Given the description of an element on the screen output the (x, y) to click on. 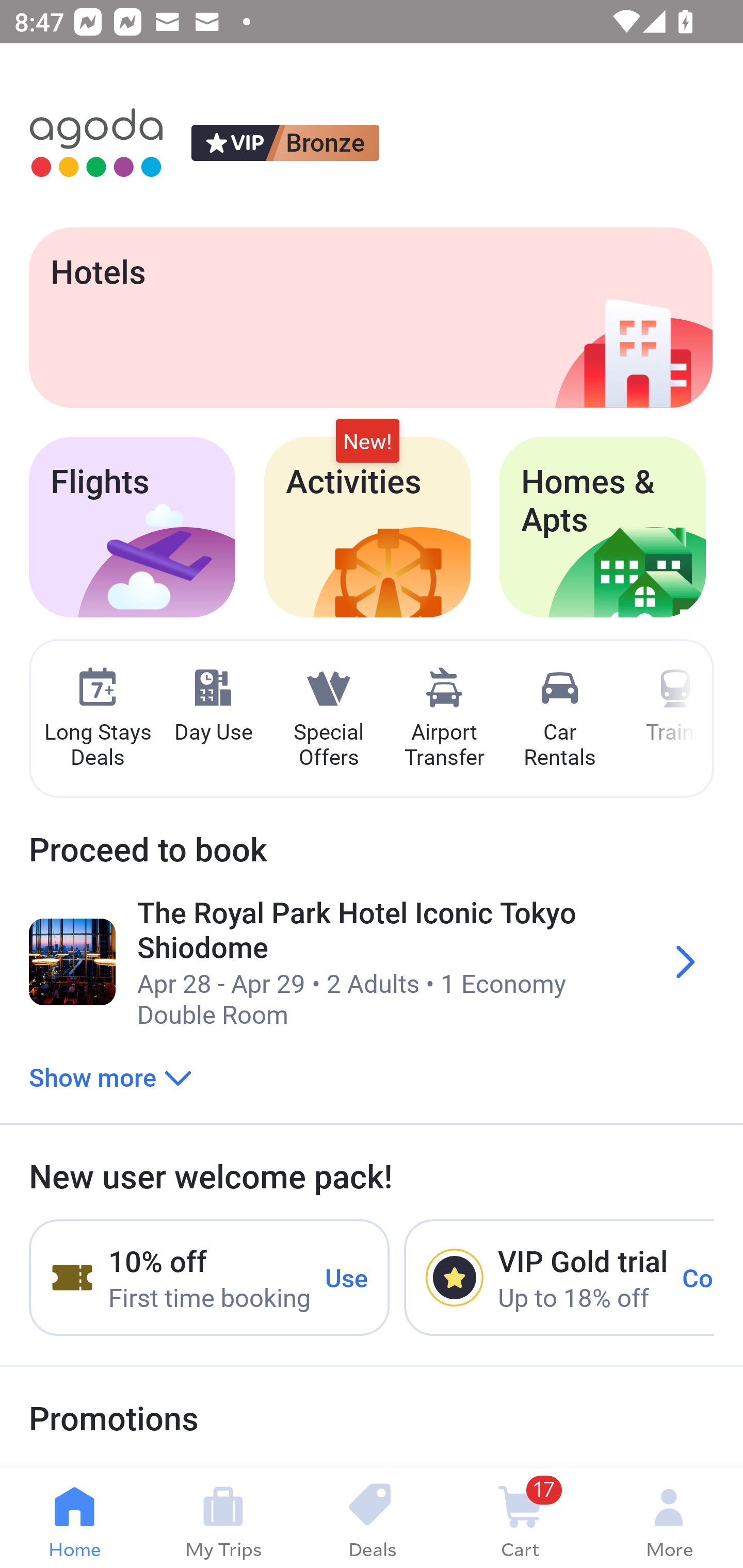
Hotels (370, 317)
New! (367, 441)
Flights (131, 527)
Activities (367, 527)
Homes & Apts (602, 527)
Day Use (213, 706)
Long Stays Deals (97, 718)
Special Offers (328, 718)
Airport Transfer (444, 718)
Car Rentals (559, 718)
Show more (110, 1076)
Use (346, 1277)
Home (74, 1518)
My Trips (222, 1518)
Deals (371, 1518)
17 Cart (519, 1518)
More (668, 1518)
